Given the description of an element on the screen output the (x, y) to click on. 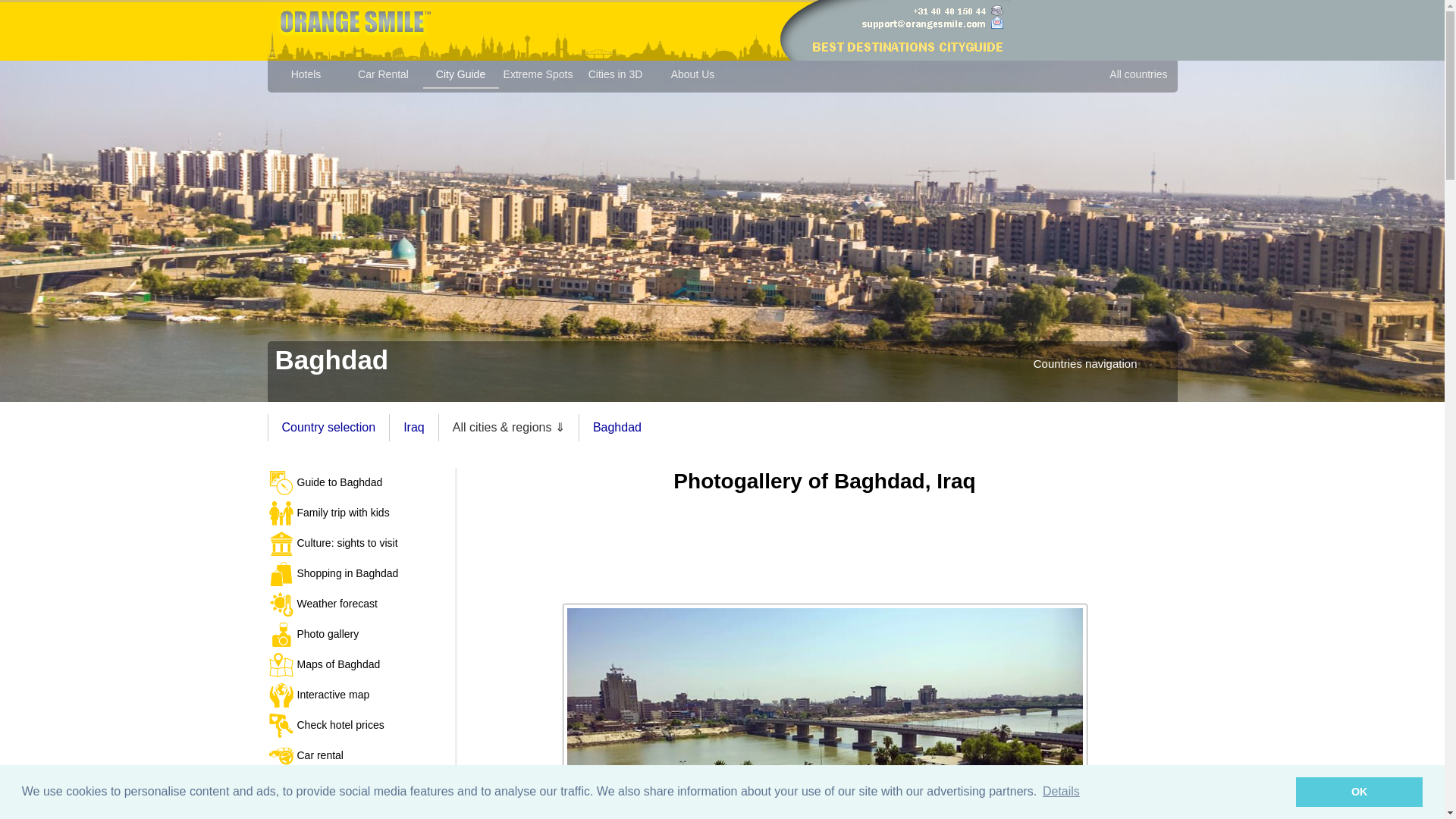
Advertisement (824, 543)
Hotels (305, 76)
Interactive map (361, 695)
Check hotel prices (361, 725)
Culture: sights to visit (361, 543)
About Us (692, 76)
All countries (1138, 76)
Car Rental (384, 76)
Maps of Baghdad (361, 665)
Baghdad (824, 711)
OK (1358, 791)
Family trip with kids (361, 512)
Extreme Spots (538, 76)
Car rental (361, 756)
City Guide (461, 77)
